Given the description of an element on the screen output the (x, y) to click on. 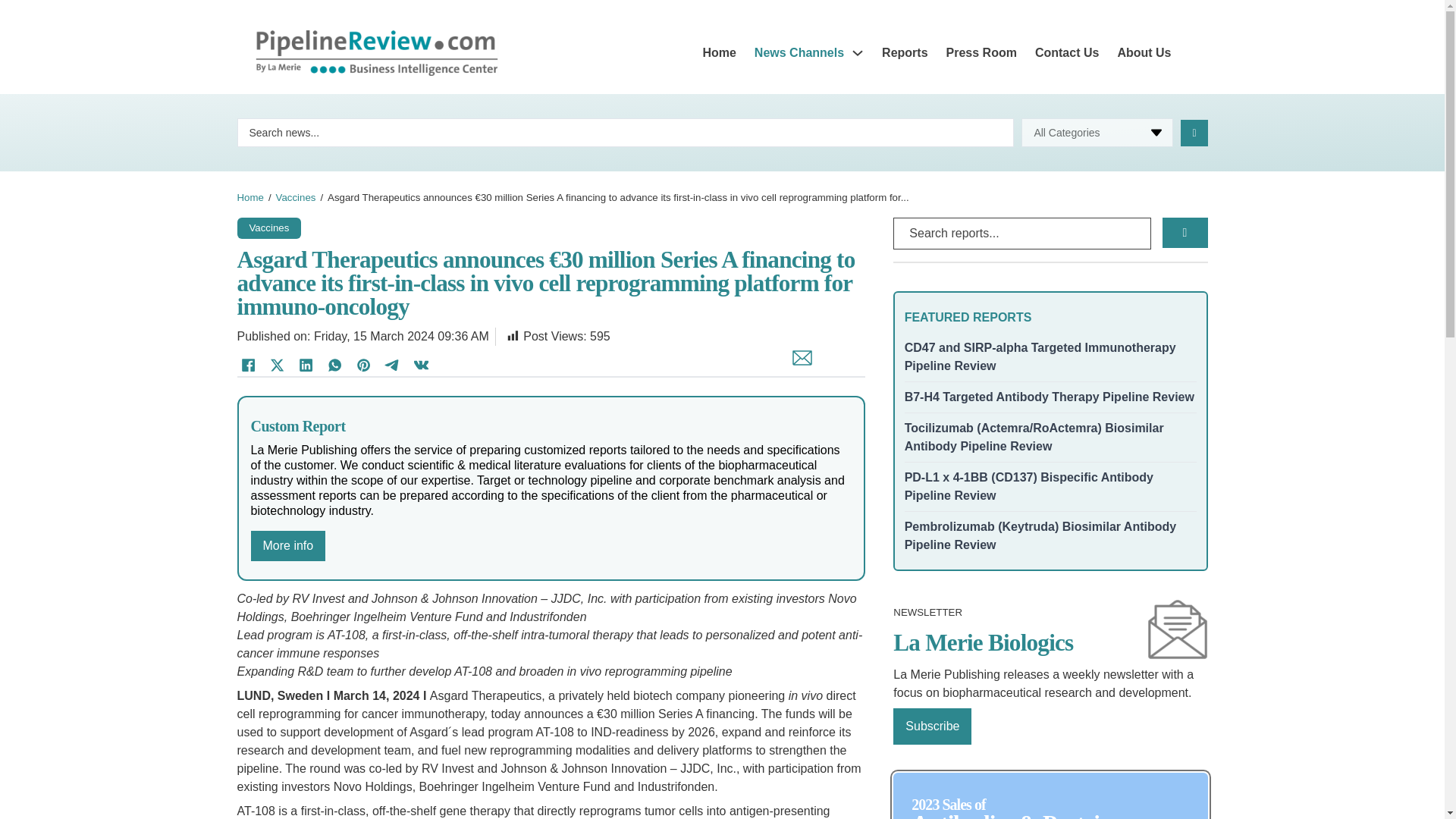
Press Room (981, 53)
Home (718, 53)
Home (249, 197)
About Us (1143, 53)
Share by Email (798, 365)
Reports (904, 53)
Vaccines (268, 226)
Contact Us (1067, 53)
News Channels (799, 53)
Vaccines (295, 197)
